Given the description of an element on the screen output the (x, y) to click on. 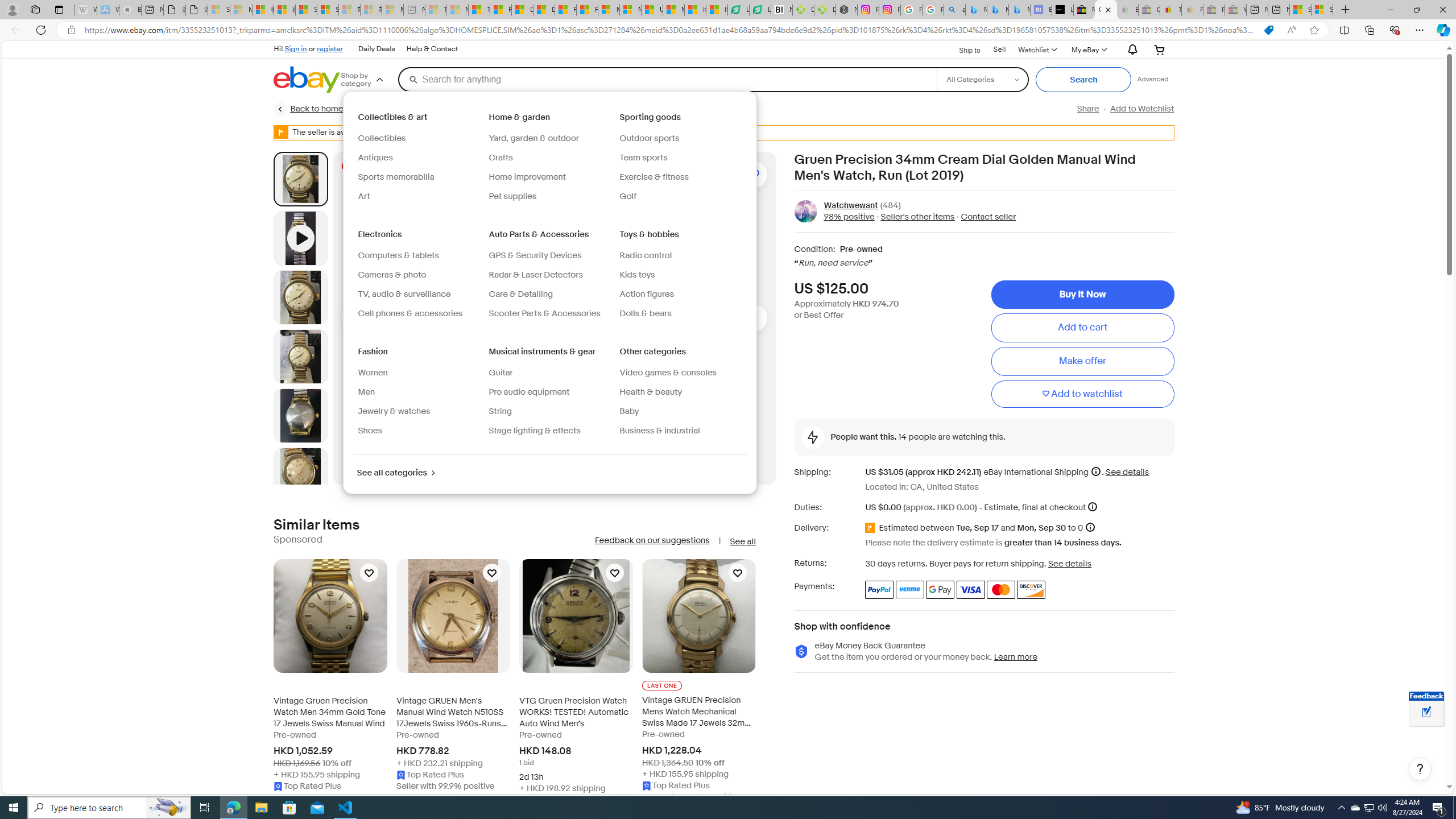
Jewelry & watches (418, 411)
Watchwewant (850, 205)
Kids toys (636, 275)
Business & industrial (659, 430)
Cell phones & accessories (410, 313)
Antiques (418, 157)
AutomationID: gh-eb-Alerts (1131, 49)
Delivery alert flag (871, 528)
Dolls & bears (679, 313)
More information (1092, 506)
PayPal (878, 588)
TV, audio & surveillance (418, 294)
